Given the description of an element on the screen output the (x, y) to click on. 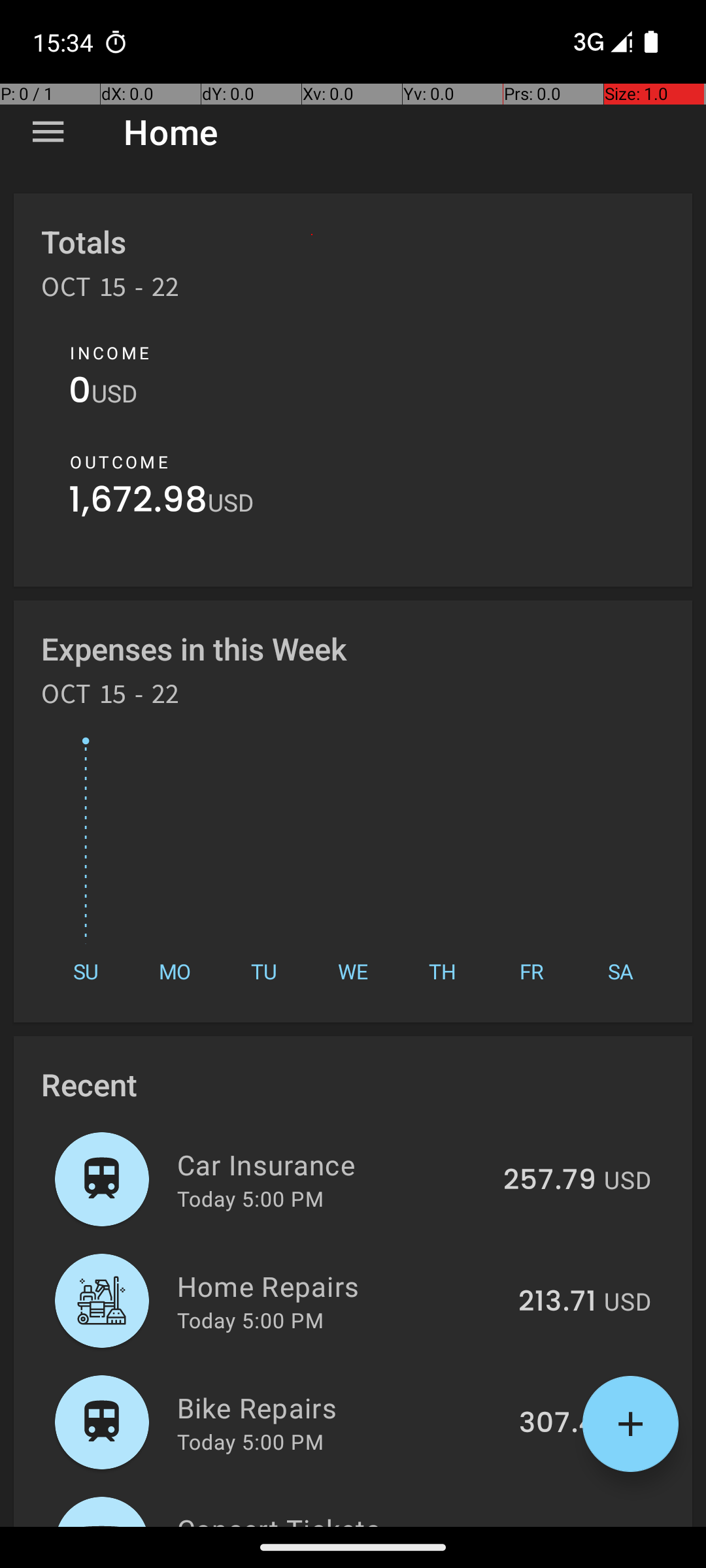
1,672.98 Element type: android.widget.TextView (137, 502)
Car Insurance Element type: android.widget.TextView (332, 1164)
257.79 Element type: android.widget.TextView (549, 1180)
Home Repairs Element type: android.widget.TextView (340, 1285)
213.71 Element type: android.widget.TextView (556, 1301)
307.4 Element type: android.widget.TextView (557, 1423)
Concert Tickets Element type: android.widget.TextView (338, 1518)
449.8 Element type: android.widget.TextView (555, 1524)
